Given the description of an element on the screen output the (x, y) to click on. 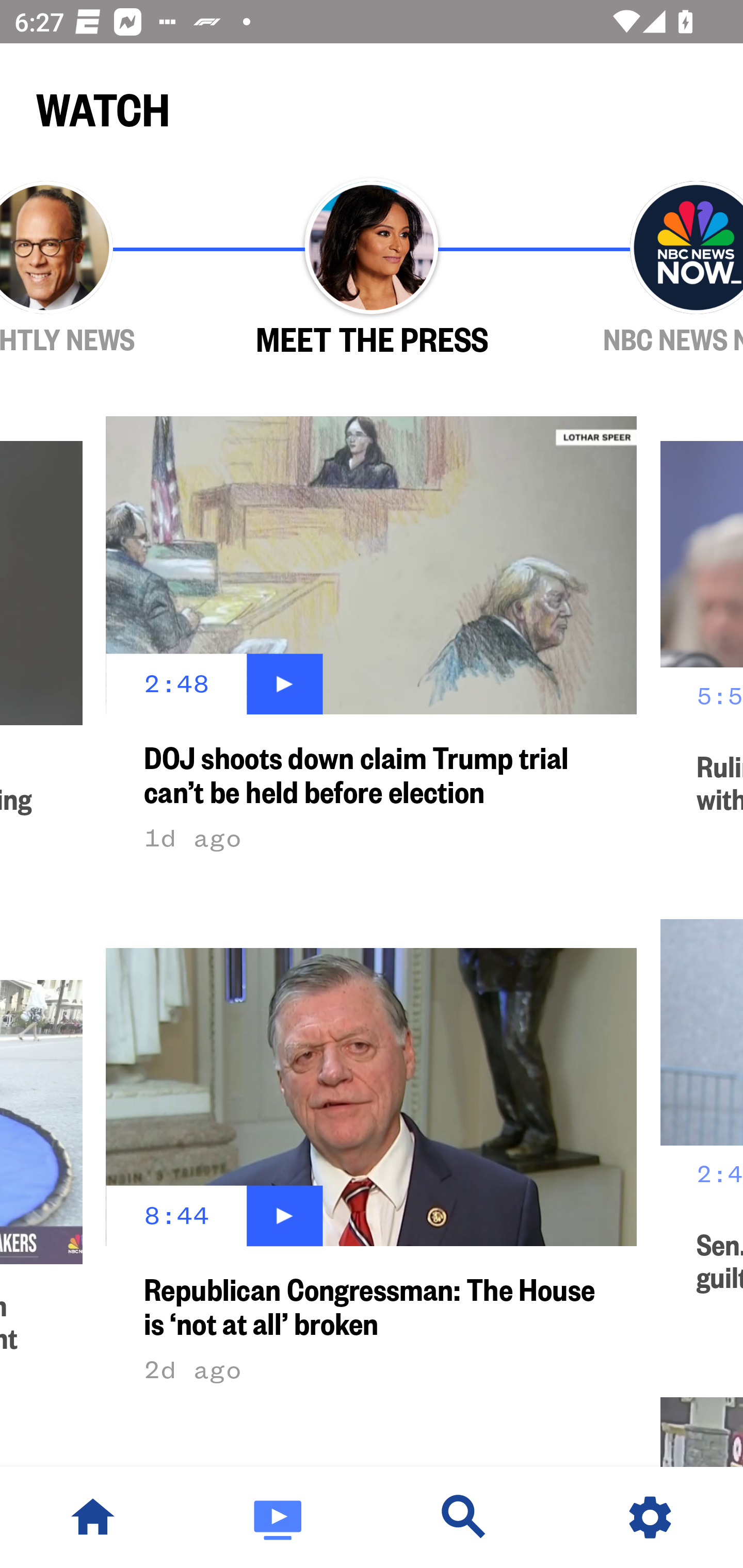
NIGHTLY NEWS (104, 268)
MEET THE PRESS (371, 268)
NBC NEWS NOW (638, 268)
NBC News Home (92, 1517)
Discover (464, 1517)
Settings (650, 1517)
